Given the description of an element on the screen output the (x, y) to click on. 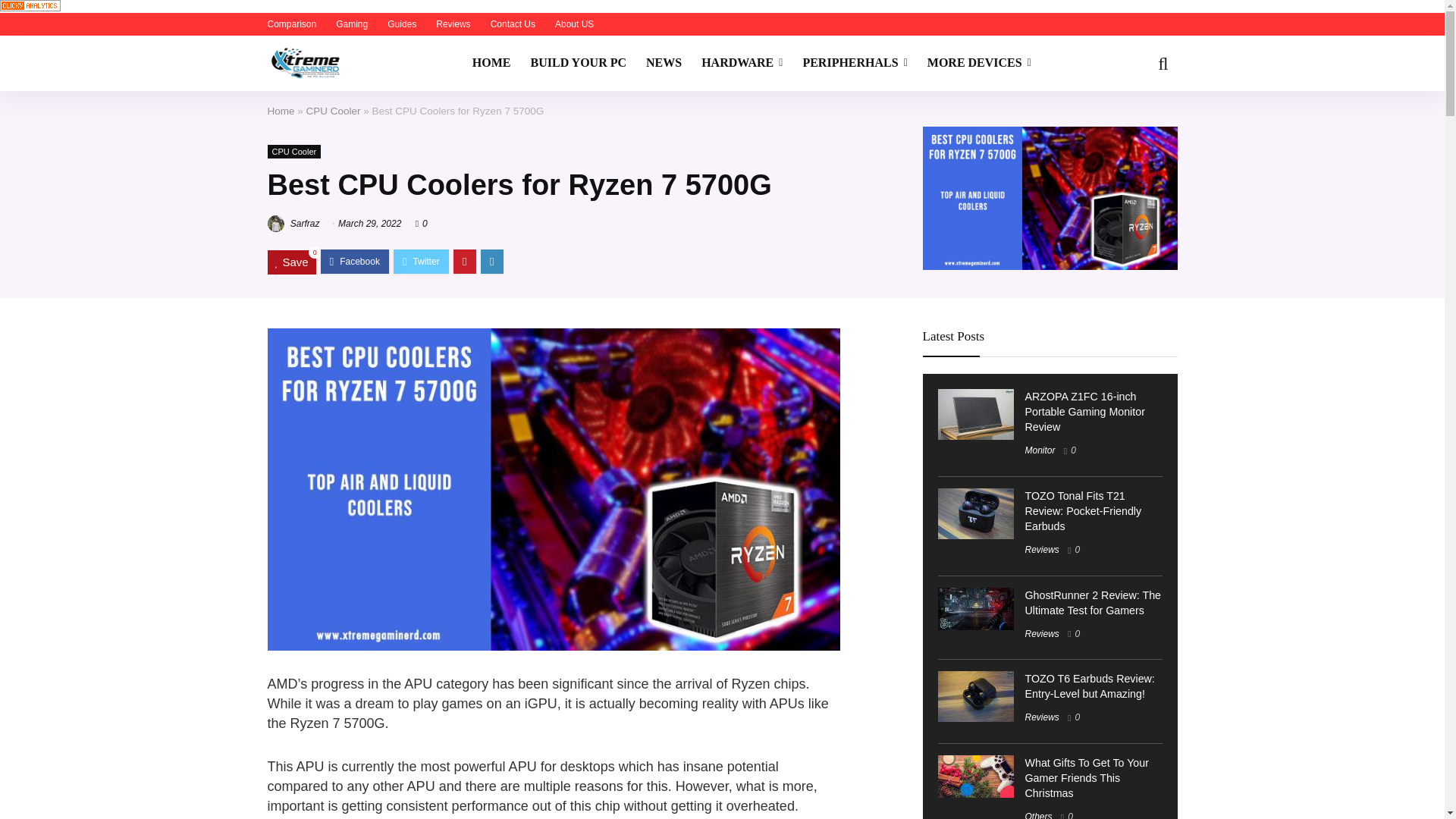
HOME (492, 63)
View all posts in CPU Cooler (293, 151)
BUILD YOUR PC (577, 63)
MORE DEVICES (979, 63)
PERIPHERHALS (854, 63)
Privacy-friendly Web Analytics (30, 6)
Comparison (290, 23)
Guides (401, 23)
Gaming (352, 23)
NEWS (663, 63)
About US (574, 23)
HARDWARE (741, 63)
Reviews (452, 23)
Contact Us (512, 23)
